Given the description of an element on the screen output the (x, y) to click on. 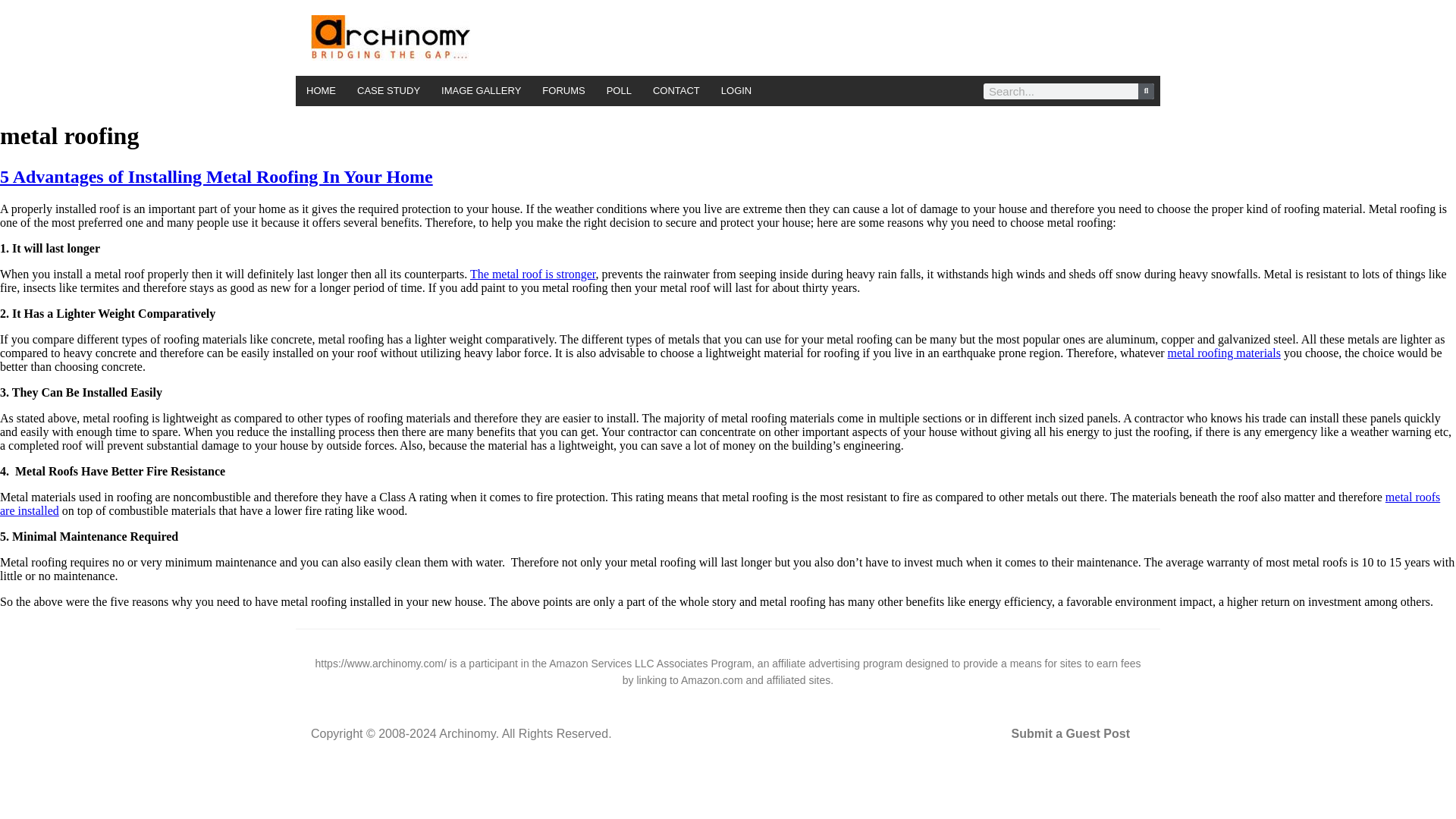
CASE STUDY (388, 91)
CONTACT (676, 91)
POLL (618, 91)
FORUMS (563, 91)
IMAGE GALLERY (480, 91)
LOGIN (735, 91)
HOME (320, 91)
